Given the description of an element on the screen output the (x, y) to click on. 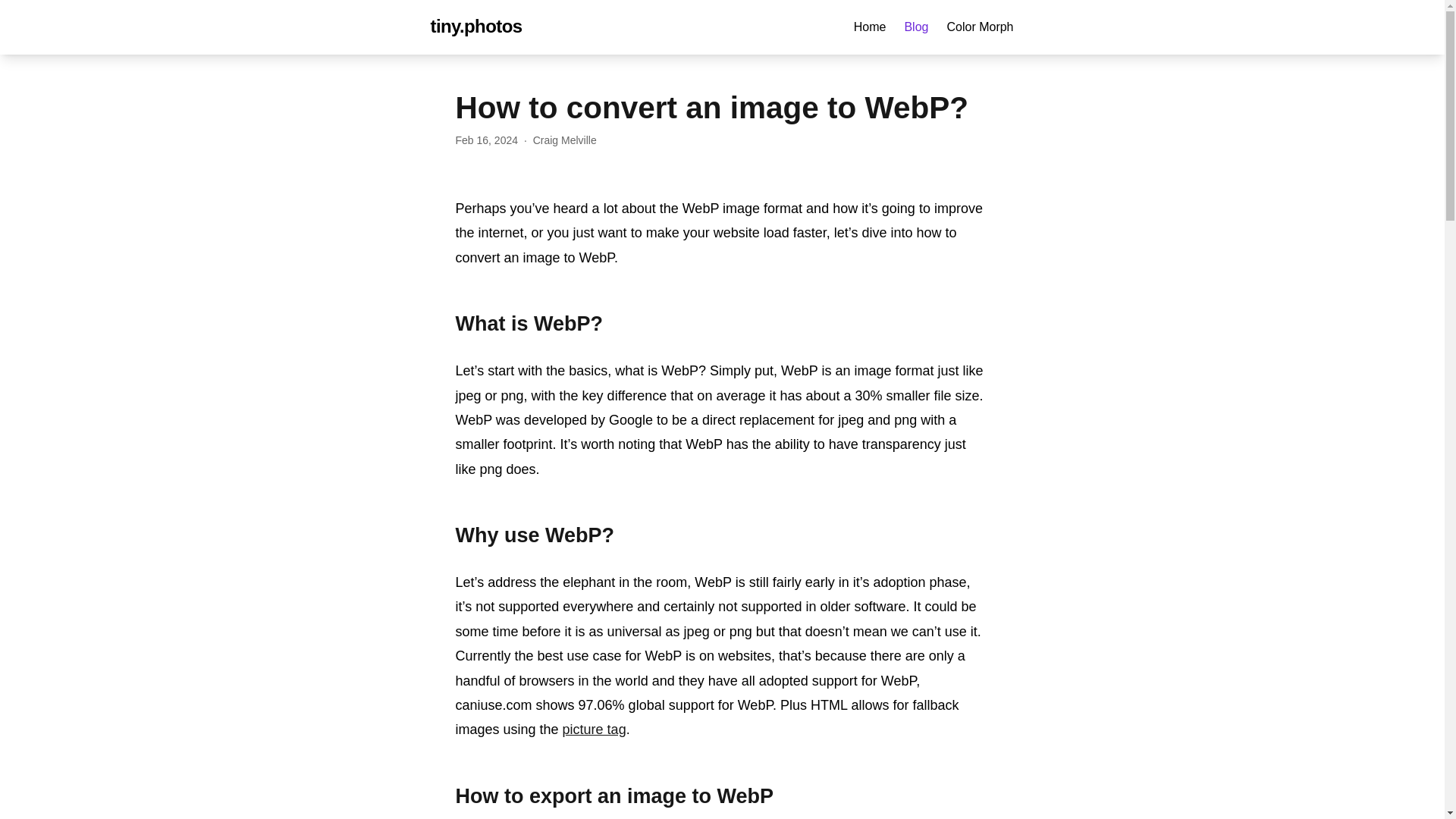
Blog (916, 27)
picture tag (594, 729)
Home (869, 27)
Color Morph (979, 27)
tiny.photos (476, 26)
